Given the description of an element on the screen output the (x, y) to click on. 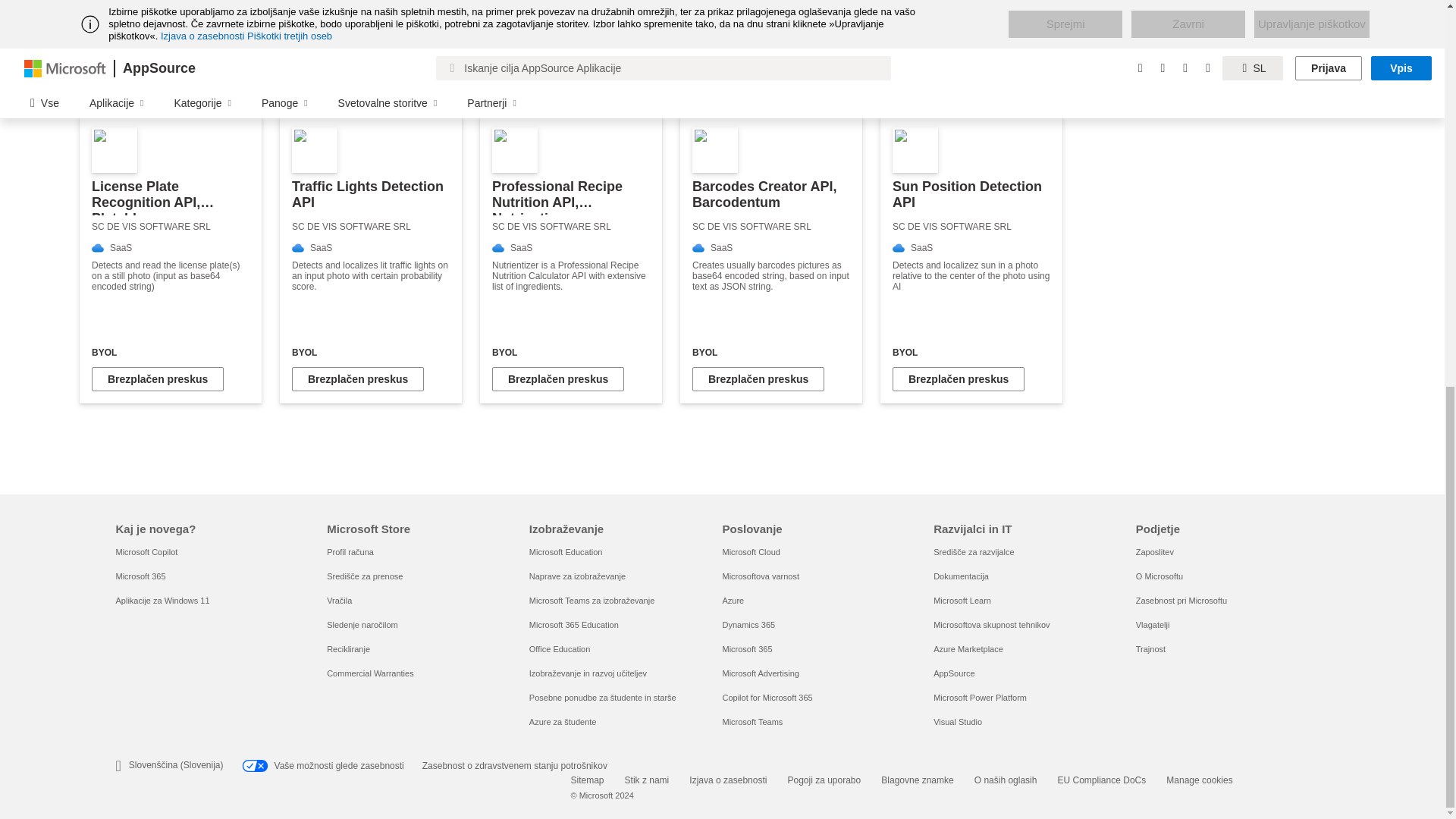
BYOL (771, 352)
BYOL (970, 352)
BYOL (570, 352)
BYOL (370, 352)
BYOL (169, 352)
